Given the description of an element on the screen output the (x, y) to click on. 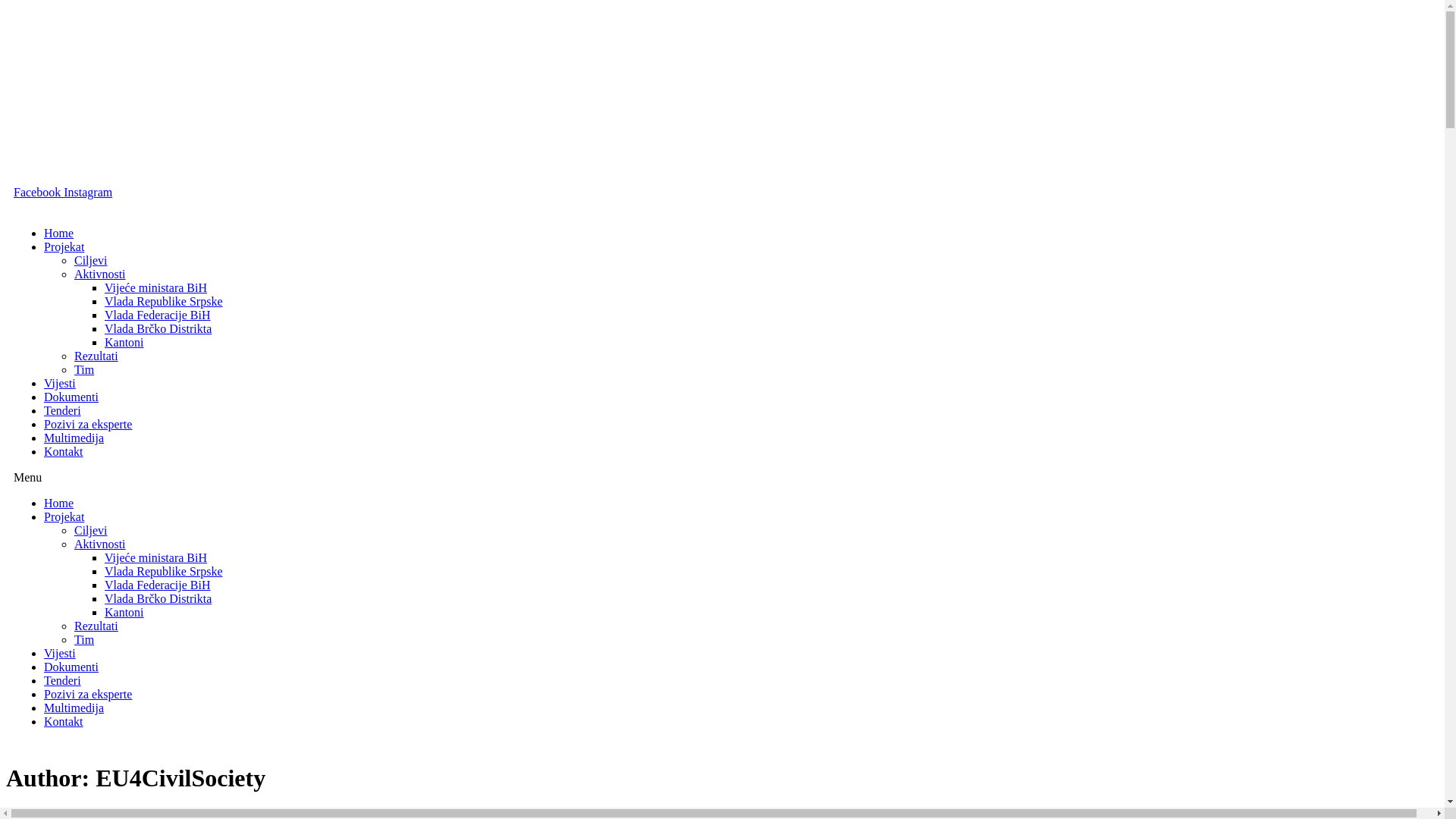
Instagram Element type: text (87, 191)
Projekat Element type: text (63, 246)
Ciljevi Element type: text (90, 530)
Aktivnosti Element type: text (99, 273)
Kantoni Element type: text (124, 611)
Skip to content Element type: text (5, 5)
Aktivnosti Element type: text (99, 543)
Home Element type: text (58, 502)
Tenderi Element type: text (62, 410)
Dokumenti Element type: text (70, 396)
Pozivi za eksperte Element type: text (87, 693)
Kontakt Element type: text (63, 451)
Vijesti Element type: text (59, 652)
Multimedija Element type: text (73, 437)
Tenderi Element type: text (62, 680)
Tim Element type: text (84, 369)
Projekat Element type: text (63, 516)
Tim Element type: text (84, 639)
Vlada Federacije BiH Element type: text (157, 314)
Multimedija Element type: text (73, 707)
Vlada Republike Srpske Element type: text (163, 300)
Rezultati Element type: text (96, 625)
Vlada Federacije BiH Element type: text (157, 584)
Facebook Element type: text (38, 191)
Kontakt Element type: text (63, 721)
Vlada Republike Srpske Element type: text (163, 570)
Home Element type: text (58, 232)
Kantoni Element type: text (124, 341)
Dokumenti Element type: text (70, 666)
Pozivi za eksperte Element type: text (87, 423)
Vijesti Element type: text (59, 382)
Ciljevi Element type: text (90, 260)
Rezultati Element type: text (96, 355)
